Given the description of an element on the screen output the (x, y) to click on. 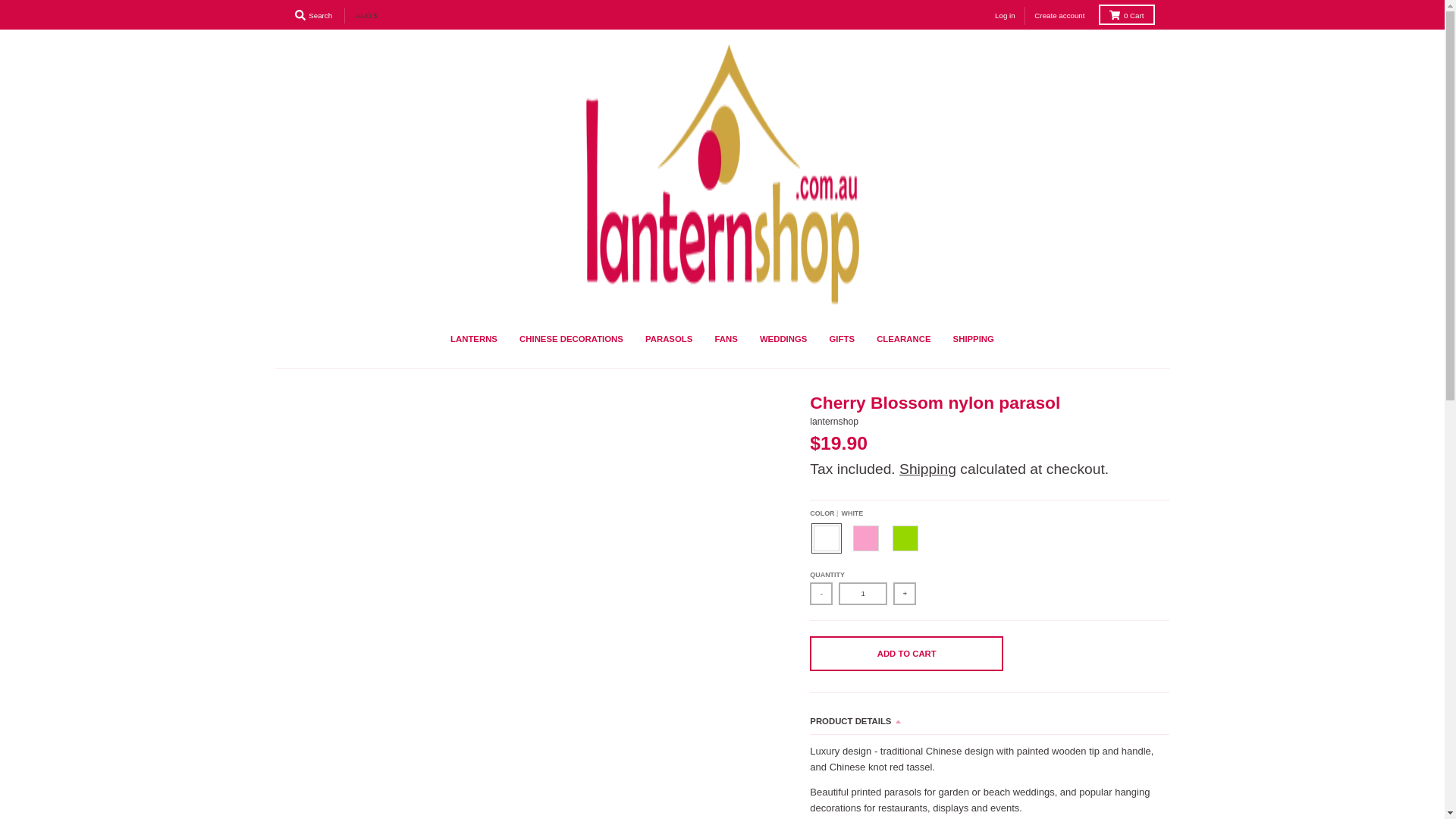
lanternshop (834, 421)
White (825, 538)
pink (865, 538)
Search (312, 14)
1 (862, 593)
lime (904, 538)
